Given the description of an element on the screen output the (x, y) to click on. 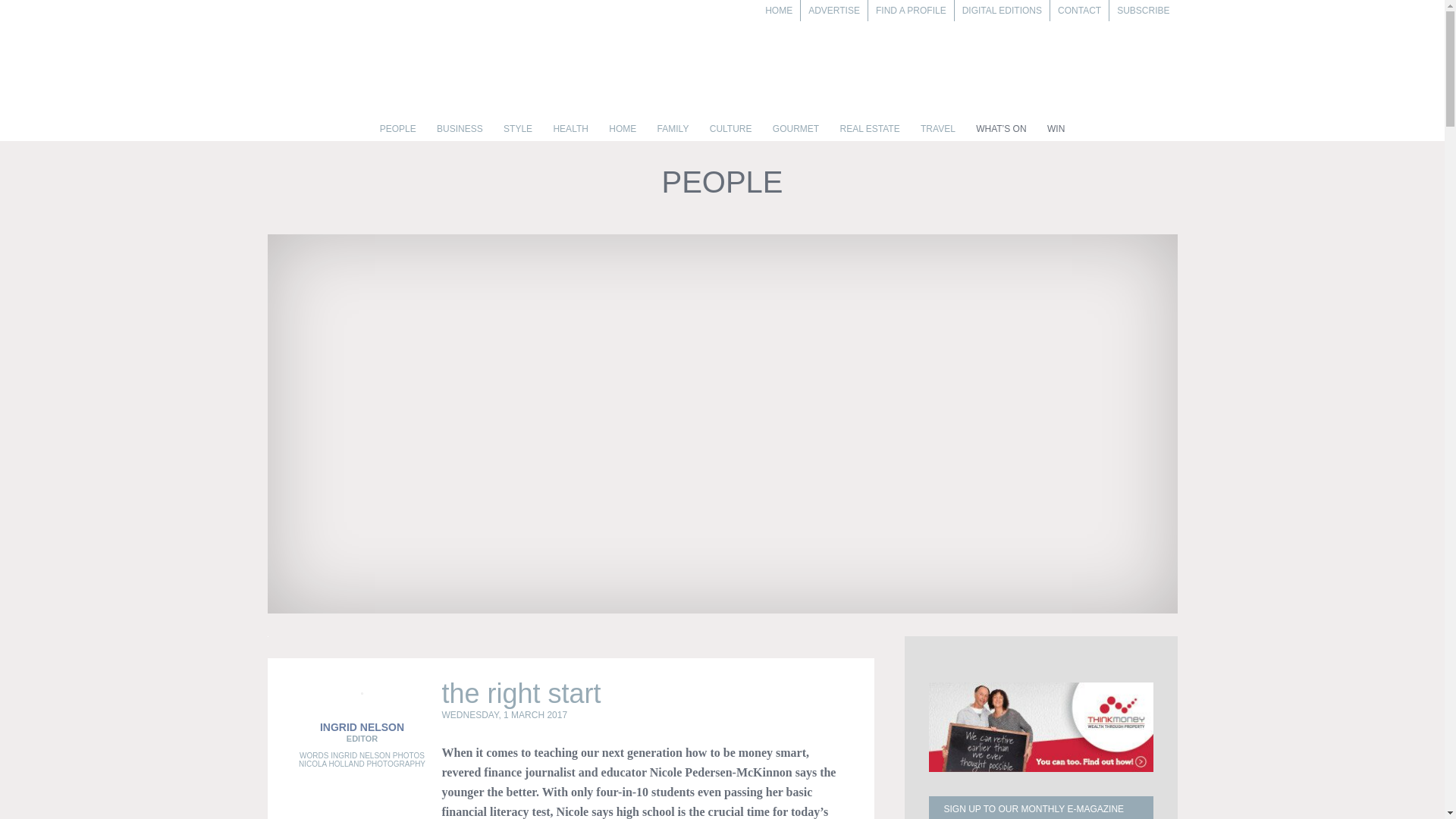
ADVERTISE (833, 10)
INGRID NELSON (362, 727)
WIN (1056, 132)
STYLE (518, 132)
GOURMET (795, 132)
REAL ESTATE (869, 132)
Twitter (375, 794)
SUBSCRIBE (1142, 10)
TRAVEL (937, 132)
PEOPLE (398, 132)
